Given the description of an element on the screen output the (x, y) to click on. 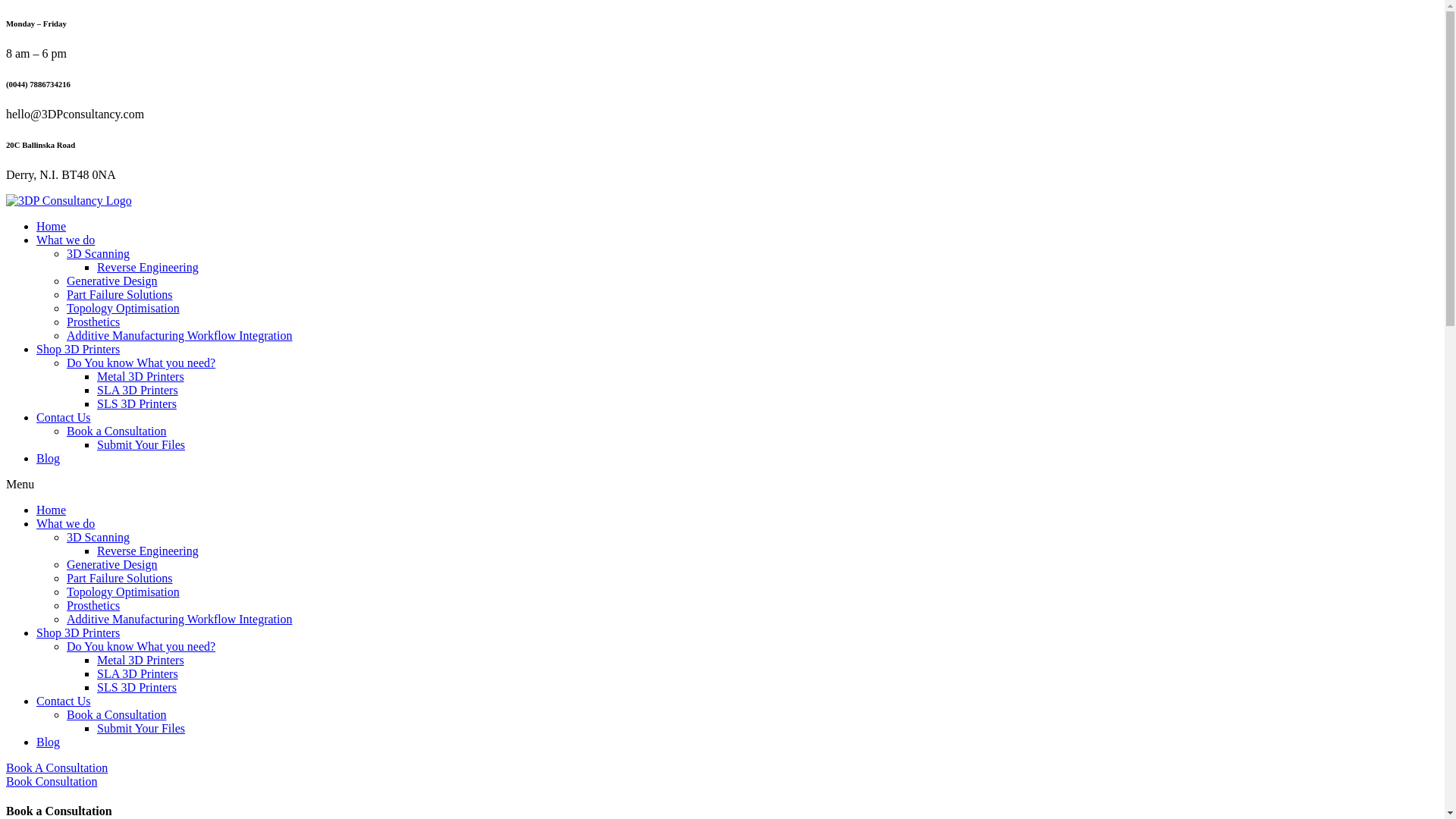
Prosthetics Element type: text (92, 605)
Blog Element type: text (47, 457)
SLA 3D Printers Element type: text (137, 673)
Contact Us Element type: text (63, 700)
Generative Design Element type: text (111, 280)
Book a Consultation Element type: text (116, 430)
Book a Consultation Element type: text (116, 714)
Topology Optimisation Element type: text (122, 591)
3D Scanning Element type: text (97, 536)
Part Failure Solutions Element type: text (119, 577)
Do You know What you need? Element type: text (140, 362)
Prosthetics Element type: text (92, 321)
Metal 3D Printers Element type: text (140, 659)
Book Consultation Element type: text (51, 781)
Submit Your Files Element type: text (141, 444)
What we do Element type: text (65, 523)
Shop 3D Printers Element type: text (77, 348)
3D Scanning Element type: text (97, 253)
Part Failure Solutions Element type: text (119, 294)
Reverse Engineering Element type: text (147, 550)
What we do Element type: text (65, 239)
Contact Us Element type: text (63, 417)
Reverse Engineering Element type: text (147, 266)
Topology Optimisation Element type: text (122, 307)
Metal 3D Printers Element type: text (140, 376)
Additive Manufacturing Workflow Integration Element type: text (178, 618)
SLS 3D Printers Element type: text (136, 403)
Shop 3D Printers Element type: text (77, 632)
SLA 3D Printers Element type: text (137, 389)
Submit Your Files Element type: text (141, 727)
Book A Consultation Element type: text (56, 767)
SLS 3D Printers Element type: text (136, 686)
Additive Manufacturing Workflow Integration Element type: text (178, 335)
Blog Element type: text (47, 741)
Home Element type: text (50, 225)
Generative Design Element type: text (111, 564)
Do You know What you need? Element type: text (140, 646)
Home Element type: text (50, 509)
